Given the description of an element on the screen output the (x, y) to click on. 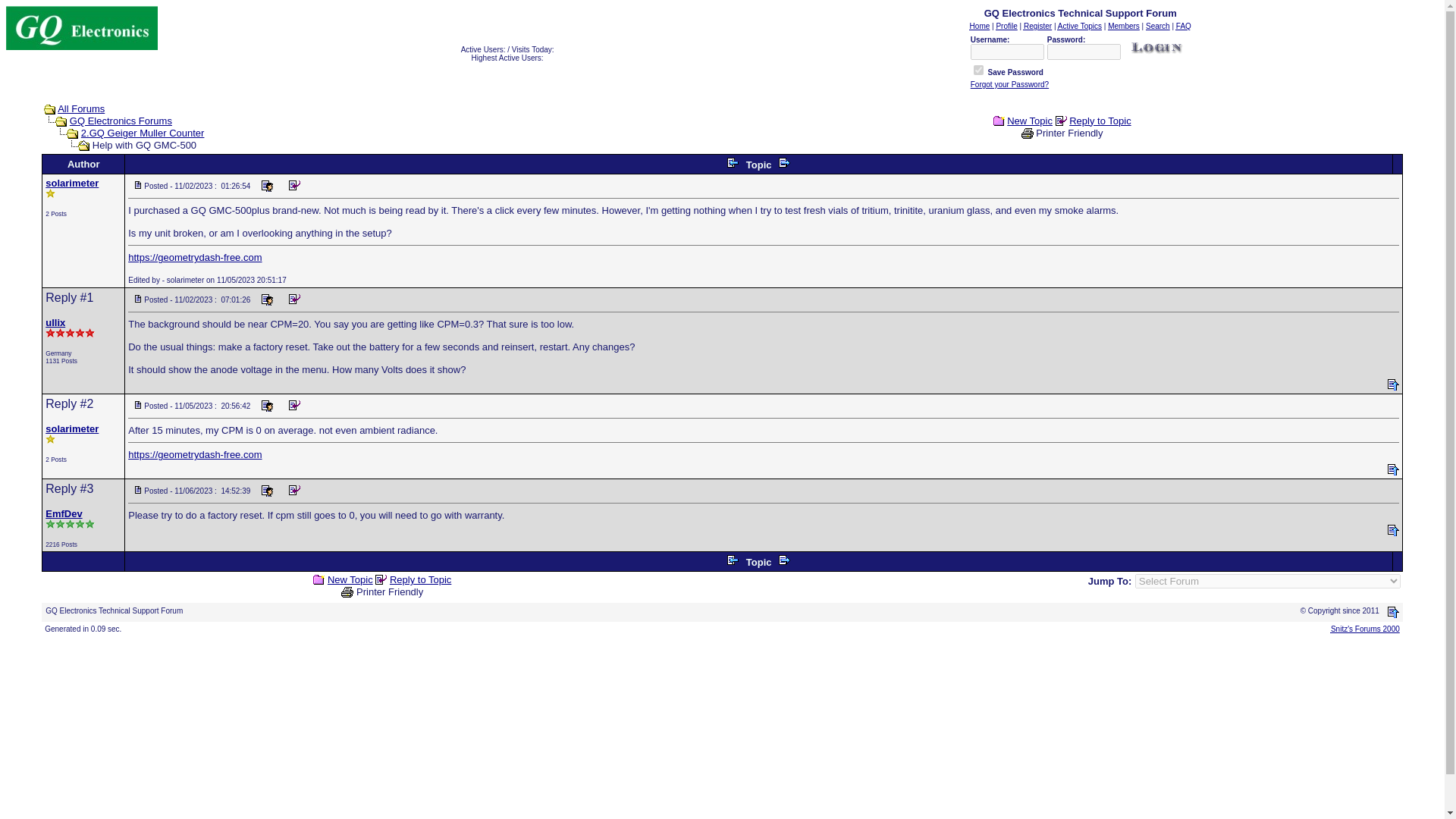
ullix (55, 322)
New Topic (1029, 120)
solarimeter (72, 428)
Active Topics (1080, 26)
Reply to Topic (1099, 120)
Register (1037, 26)
Register to post to our forum... (1037, 26)
Forgot your Password? (1009, 84)
Members (1124, 26)
true (979, 70)
FAQ (1183, 26)
Answers to Frequently Asked Questions... (1183, 26)
2.GQ Geiger Muller Counter (143, 132)
GQ Electronics Technical Support Forum (81, 27)
Profile (1005, 26)
